Given the description of an element on the screen output the (x, y) to click on. 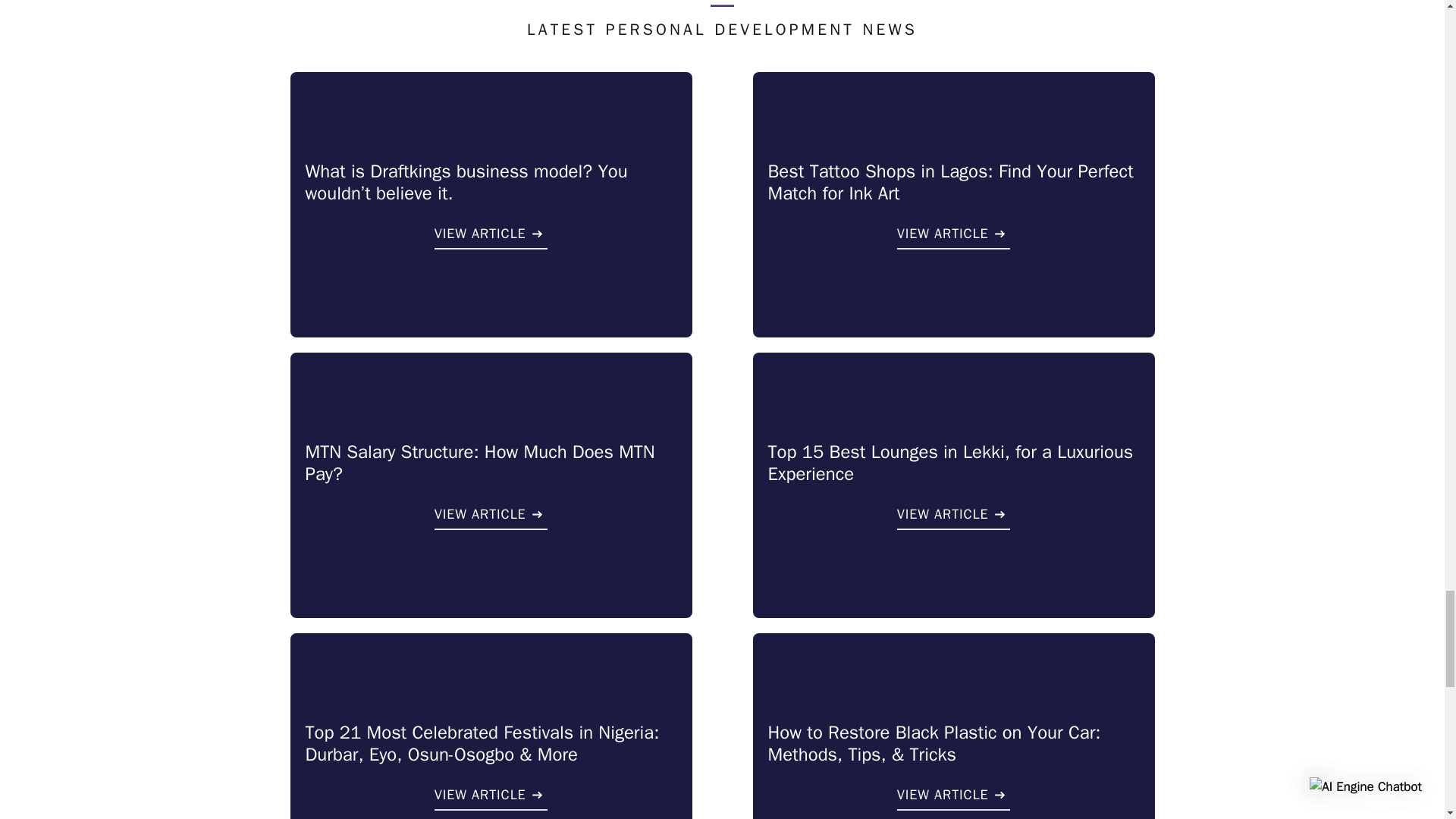
VIEW ARTICLE (490, 236)
VIEW ARTICLE (953, 236)
